Given the description of an element on the screen output the (x, y) to click on. 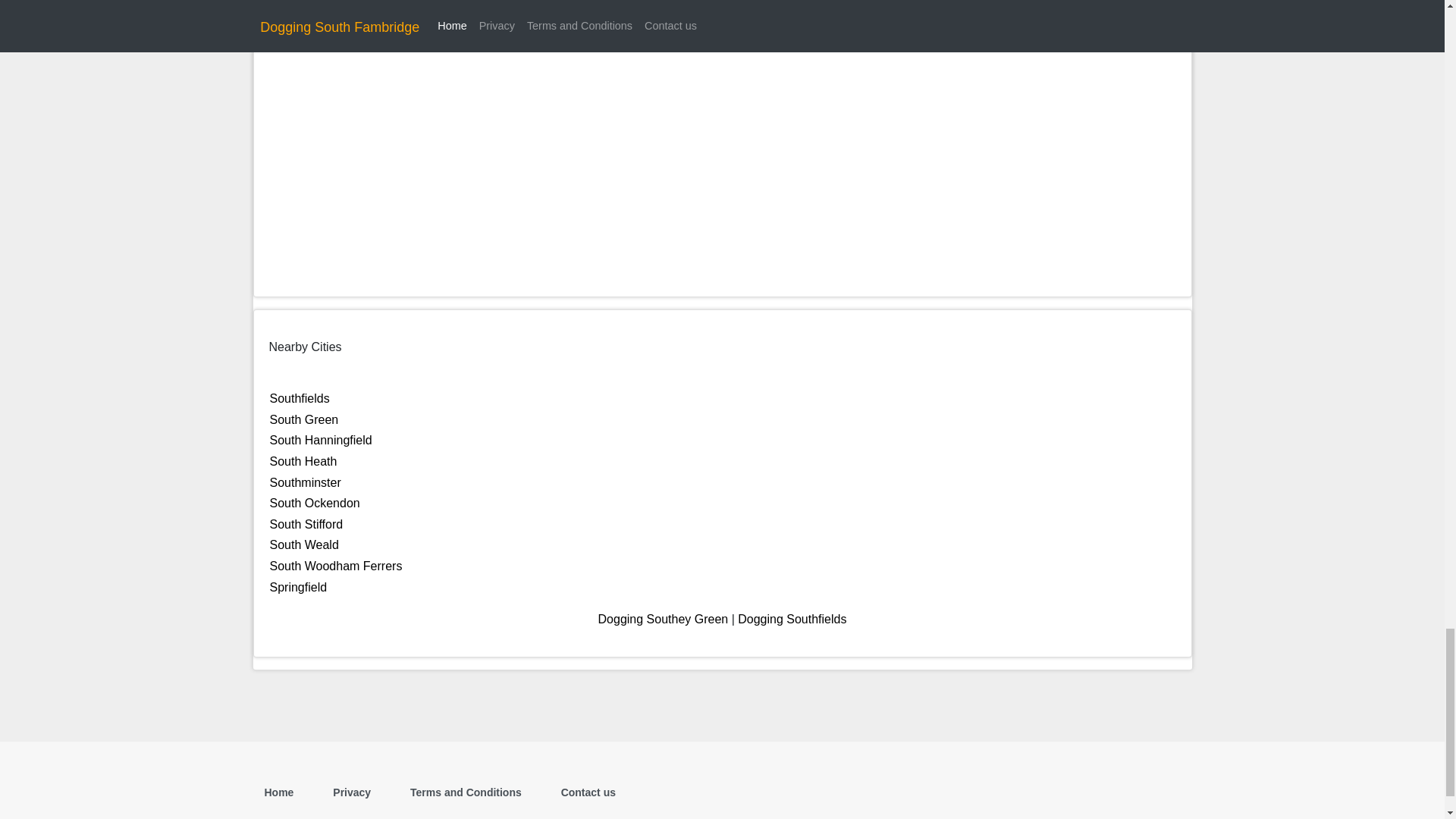
South Weald (304, 544)
Dogging Southfields (791, 618)
South Stifford (306, 523)
South Woodham Ferrers (336, 565)
Southminster (304, 481)
Springfield (298, 585)
Dogging Southey Green (663, 618)
South Heath (303, 461)
South Hanningfield (320, 440)
Southfields (299, 398)
South Green (304, 419)
South Ockendon (314, 502)
